Given the description of an element on the screen output the (x, y) to click on. 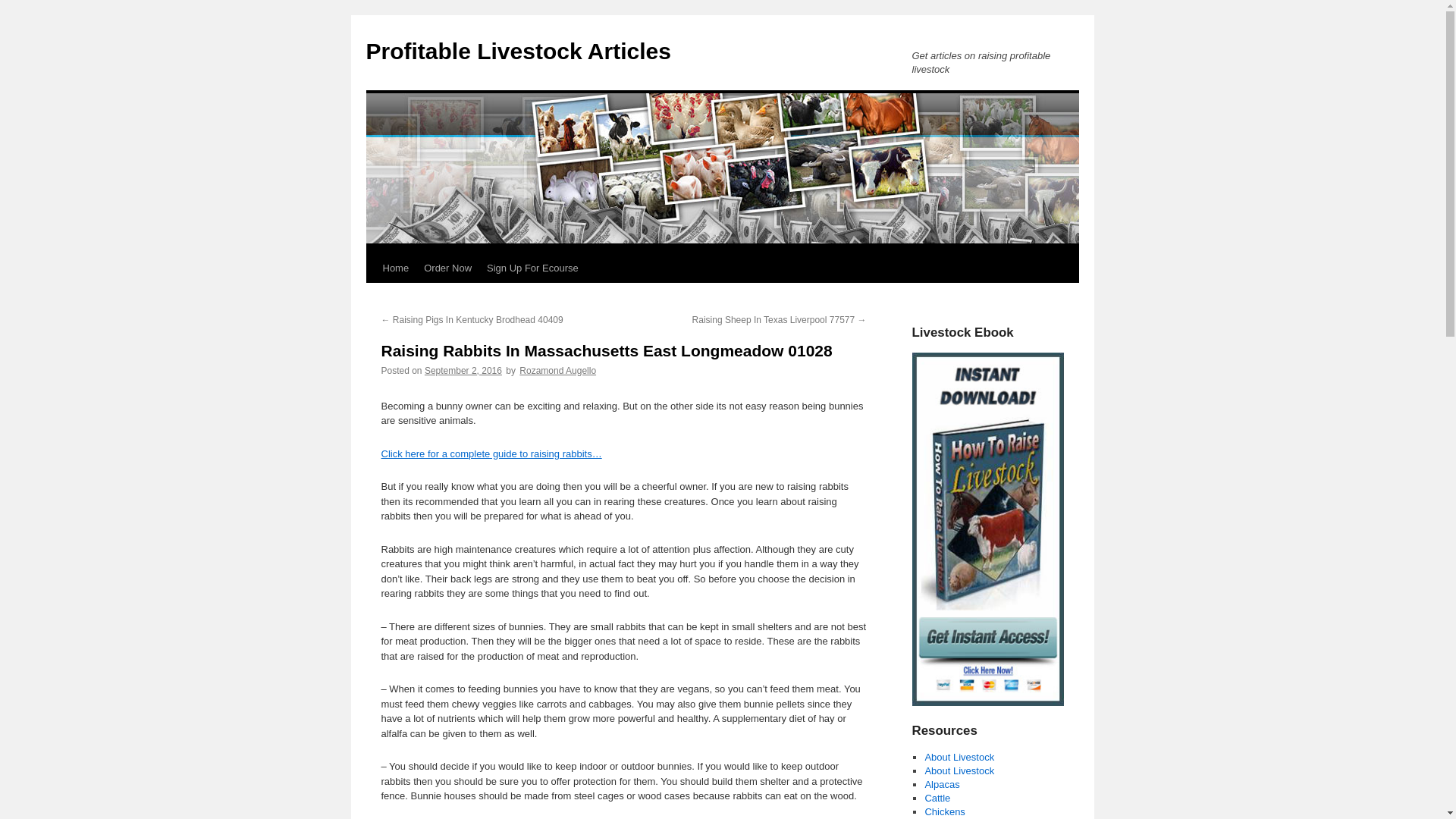
Cattle (937, 797)
View all posts by Rozamond Augello (557, 370)
Profitable Livestock Articles (517, 50)
Sign Up For Ecourse (532, 267)
About Livestock (959, 770)
Home (395, 267)
Rozamond Augello (557, 370)
About Livestock (959, 756)
Order Now (447, 267)
Profitable Livestock Articles (517, 50)
Alpacas (941, 784)
12:47 pm (463, 370)
September 2, 2016 (463, 370)
